Given the description of an element on the screen output the (x, y) to click on. 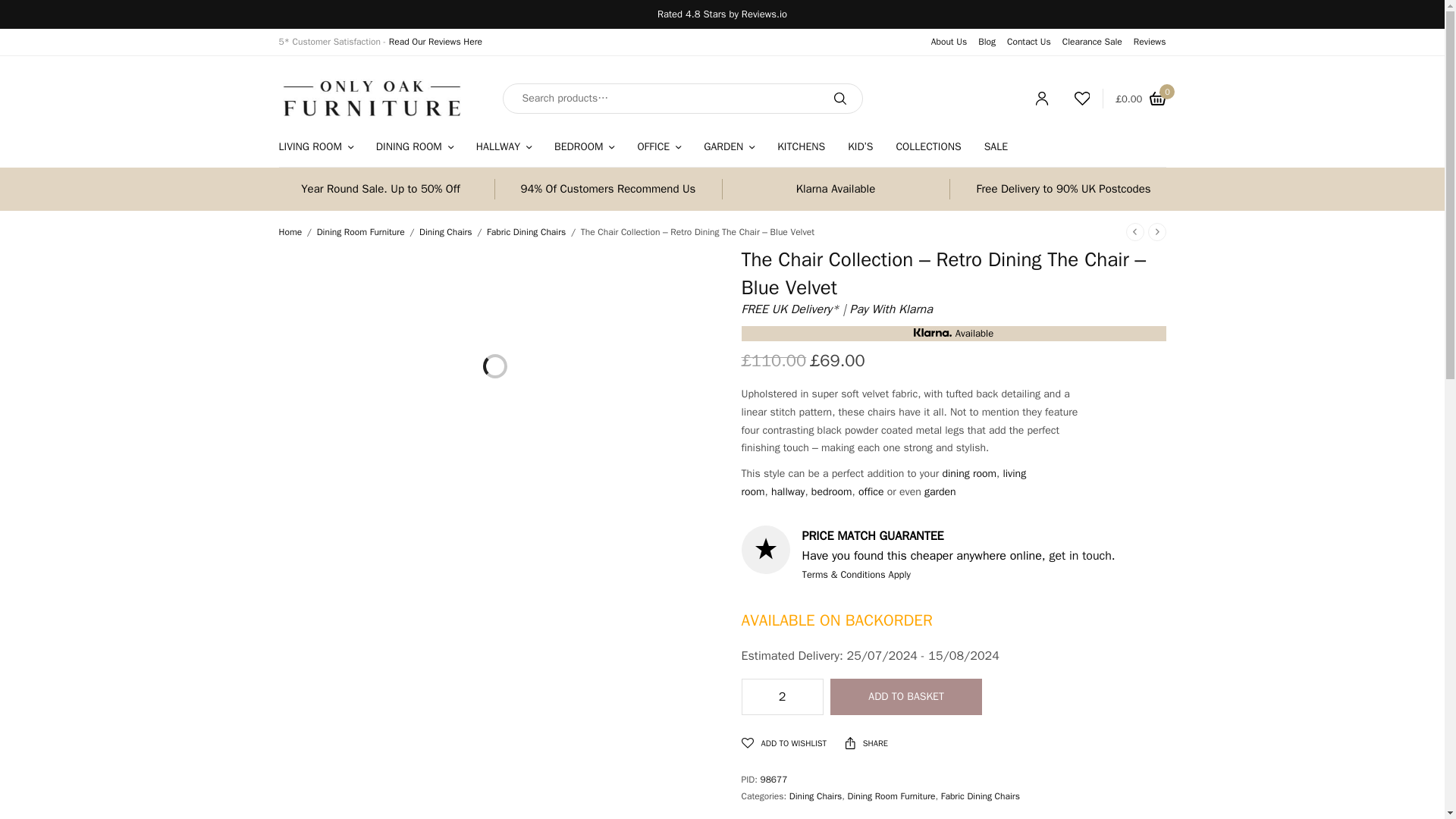
Add To Wishlist (784, 742)
Read Our Reviews Here (434, 41)
Clearance Sale (1092, 41)
About Us (948, 41)
Contact Us (1029, 41)
Only Oak Furniture (371, 97)
Wishlist (1075, 98)
2 (781, 696)
Reviews.io (764, 13)
